Given the description of an element on the screen output the (x, y) to click on. 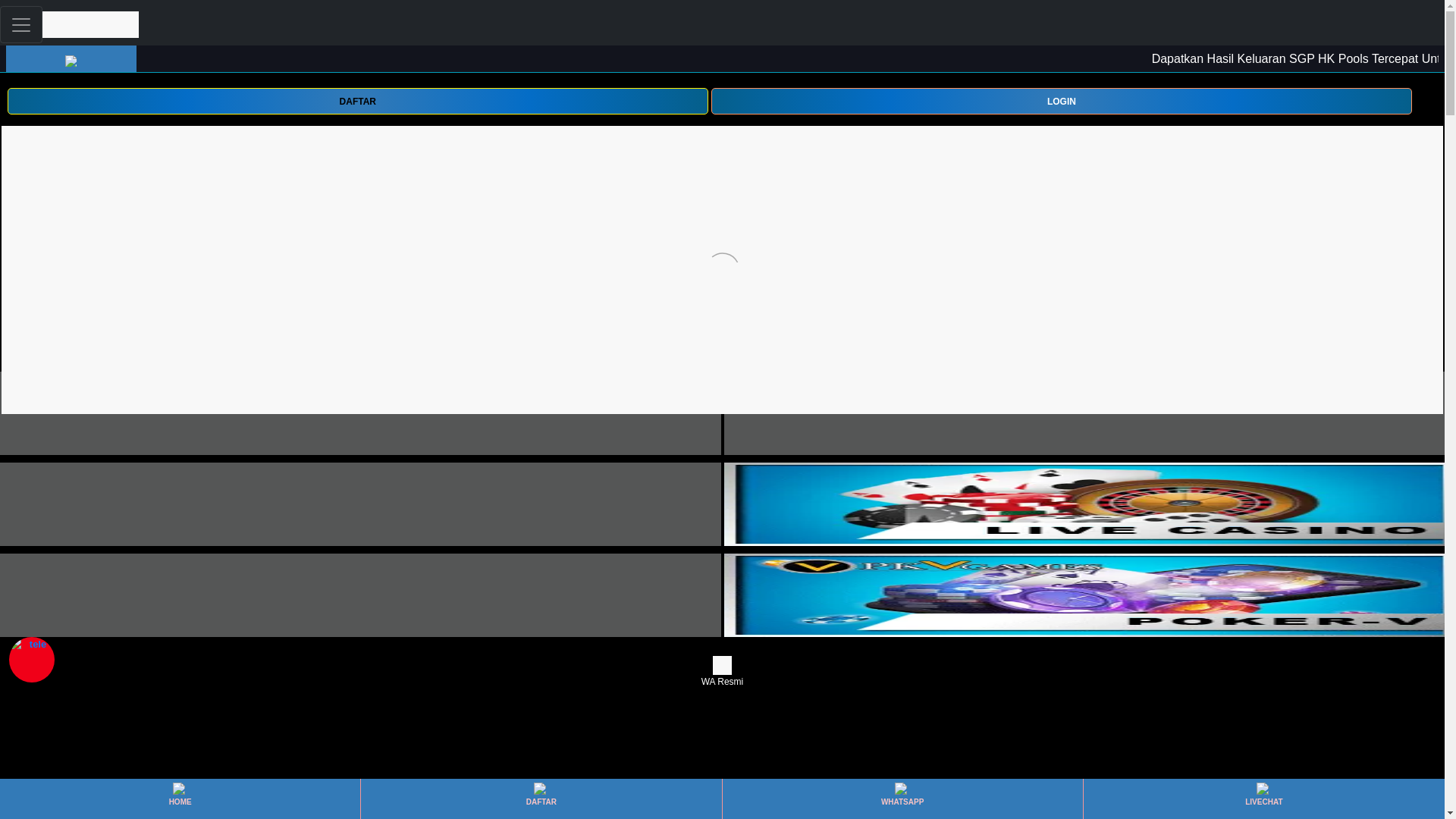
WA Resmi (722, 672)
DAFTAR (357, 100)
LOGIN (1061, 100)
DAFTAR (540, 798)
DAFTAR (357, 100)
HOME (179, 798)
LIVECHAT (1263, 798)
LOGIN (1061, 100)
WHATSAPP (901, 798)
